Given the description of an element on the screen output the (x, y) to click on. 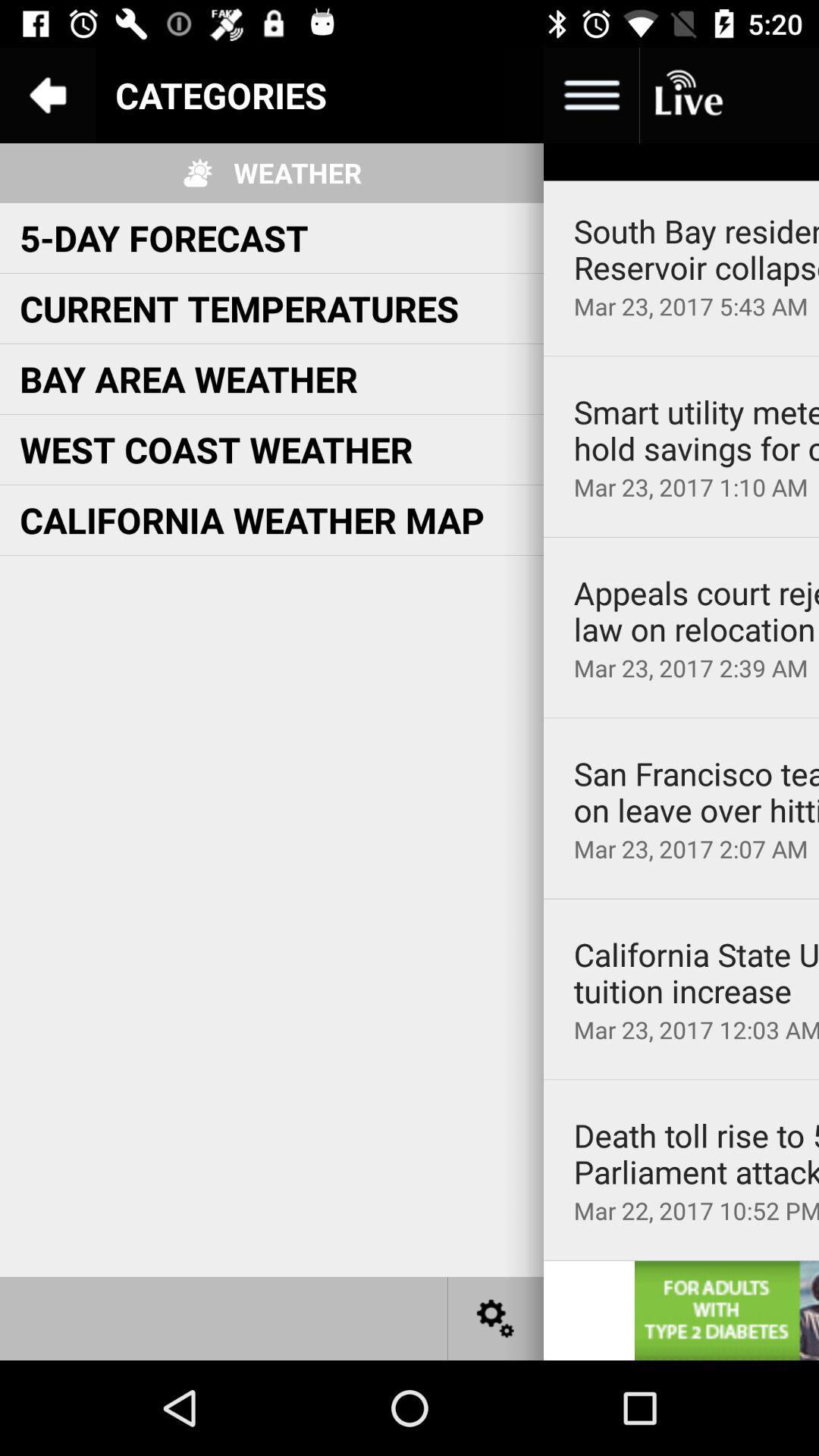
settings button (495, 1318)
